Given the description of an element on the screen output the (x, y) to click on. 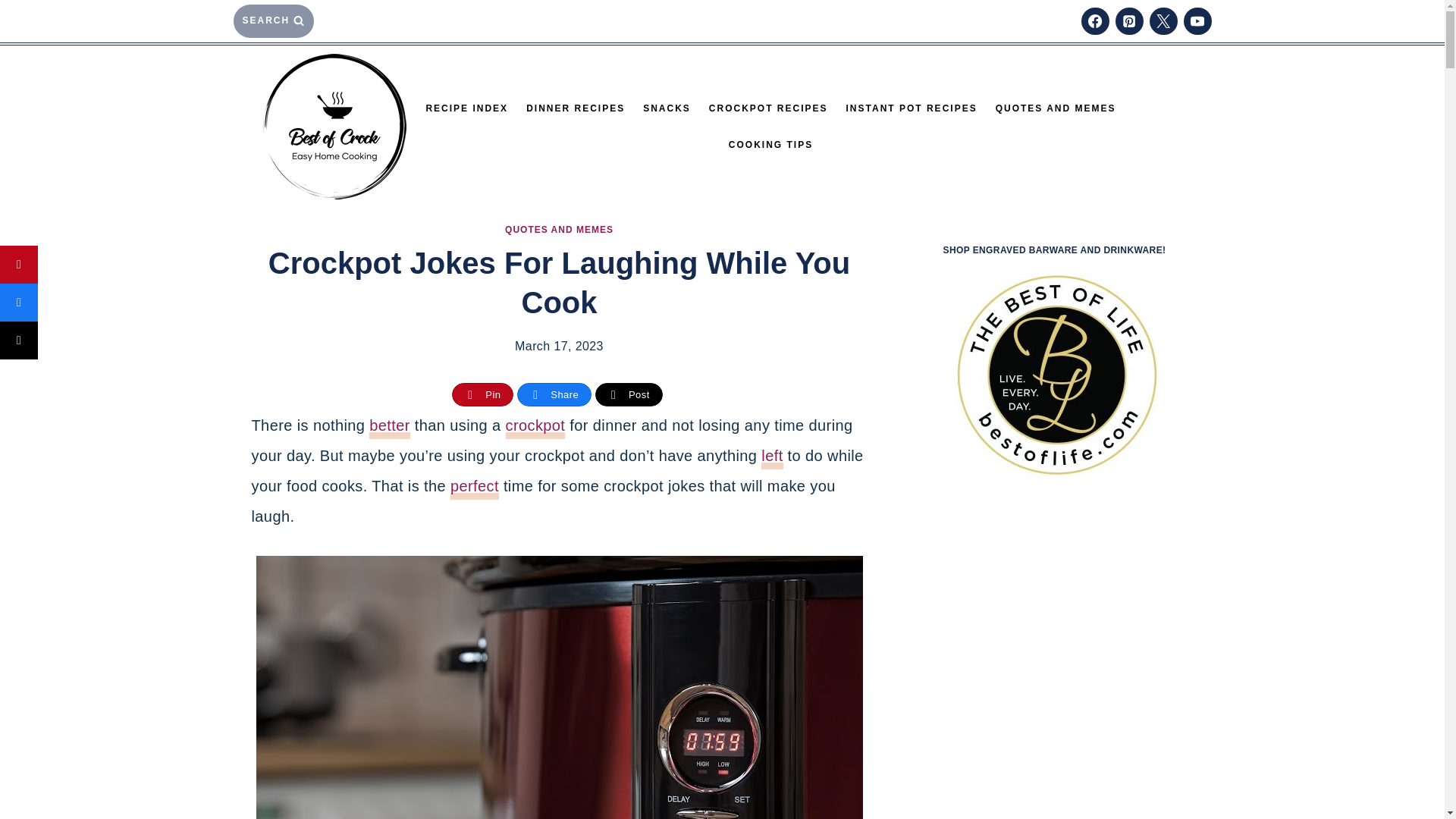
crockpot (535, 427)
perfect (474, 488)
left (772, 458)
QUOTES AND MEMES (1056, 108)
Post (628, 394)
INSTANT POT RECIPES (912, 108)
QUOTES AND MEMES (558, 229)
COOKING TIPS (770, 144)
Pin (482, 394)
better (389, 427)
